Given the description of an element on the screen output the (x, y) to click on. 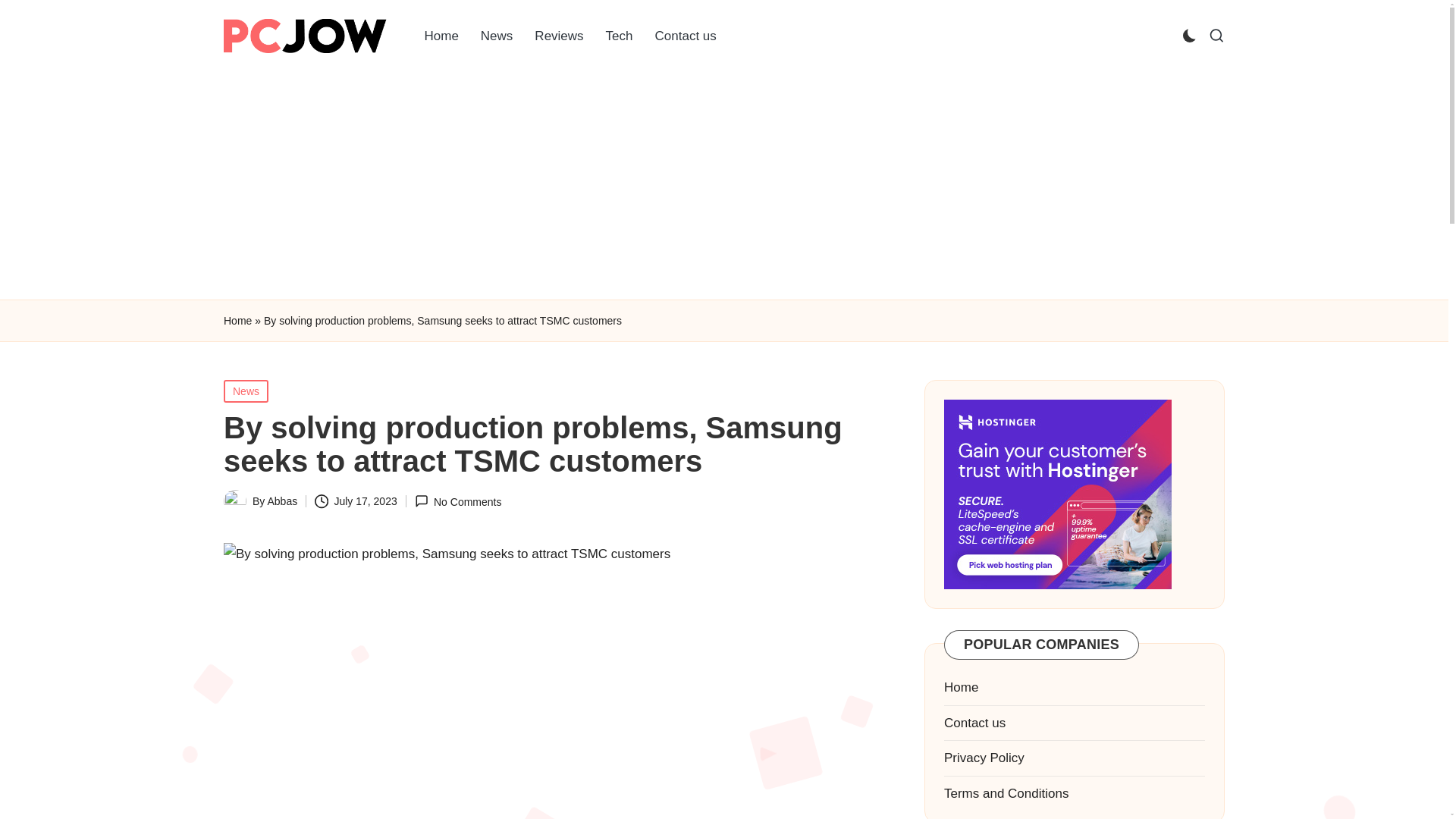
Home (440, 36)
Tech (619, 36)
No Comments (458, 501)
Terms and Conditions (1005, 793)
News (497, 36)
Contact us (685, 36)
Reviews (559, 36)
Home (237, 321)
View all posts by Abbas (281, 500)
News (245, 391)
Contact us (974, 722)
Home (960, 687)
Privacy Policy (984, 757)
Abbas (281, 500)
